Given the description of an element on the screen output the (x, y) to click on. 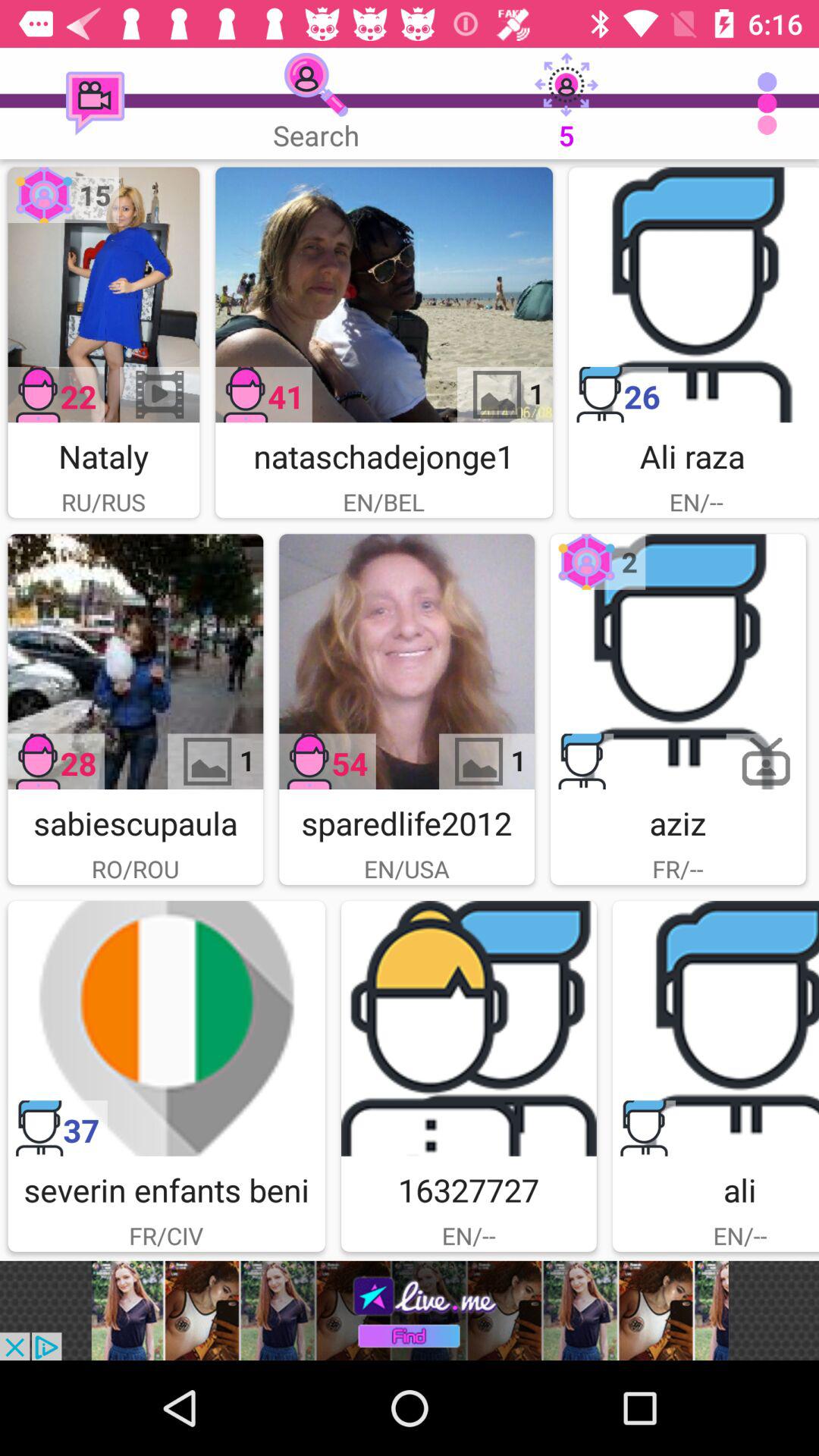
profile picture (103, 294)
